Given the description of an element on the screen output the (x, y) to click on. 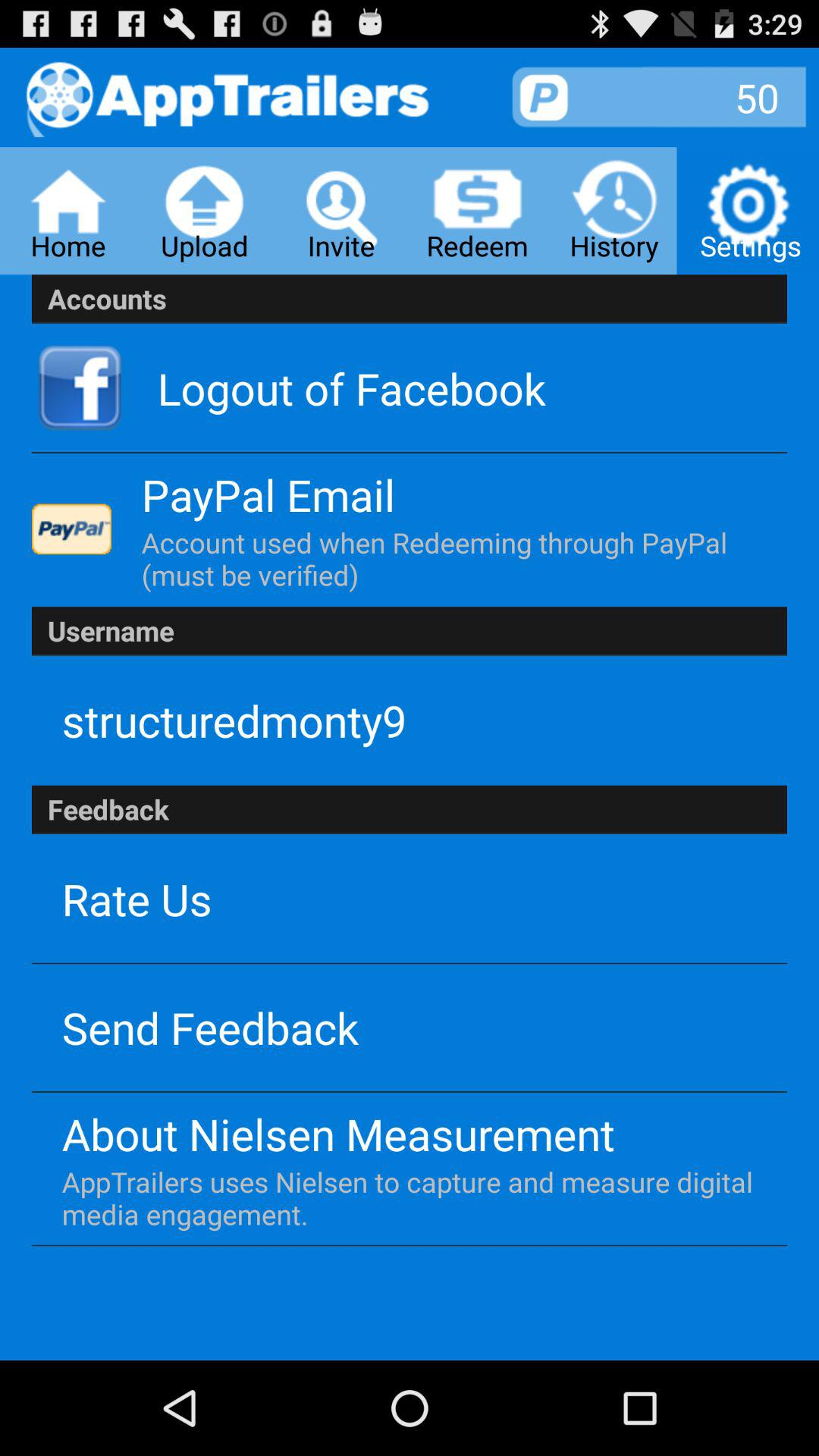
turn on the structuredmonty9 (233, 720)
